Given the description of an element on the screen output the (x, y) to click on. 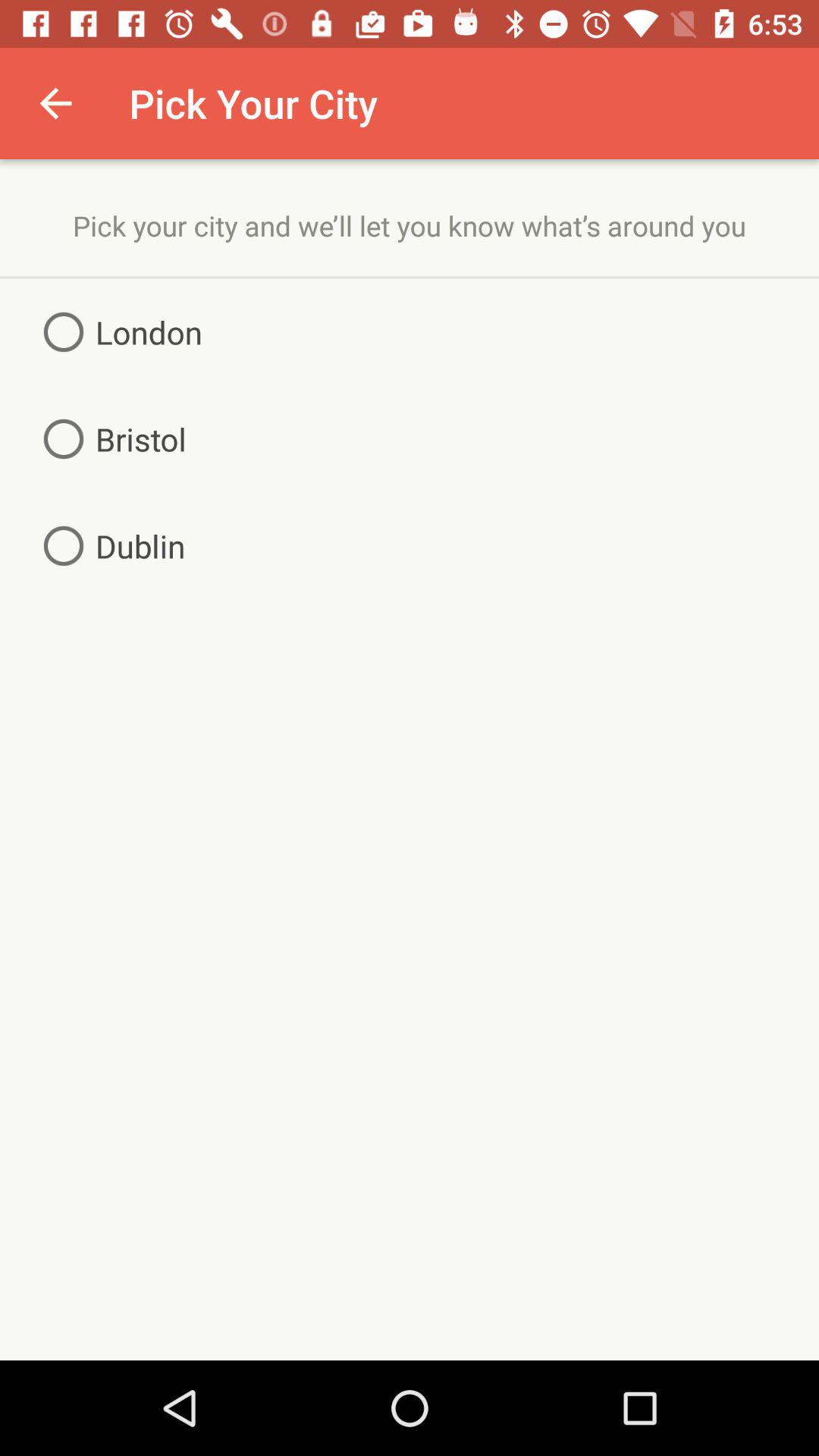
launch item above the dublin (108, 438)
